Given the description of an element on the screen output the (x, y) to click on. 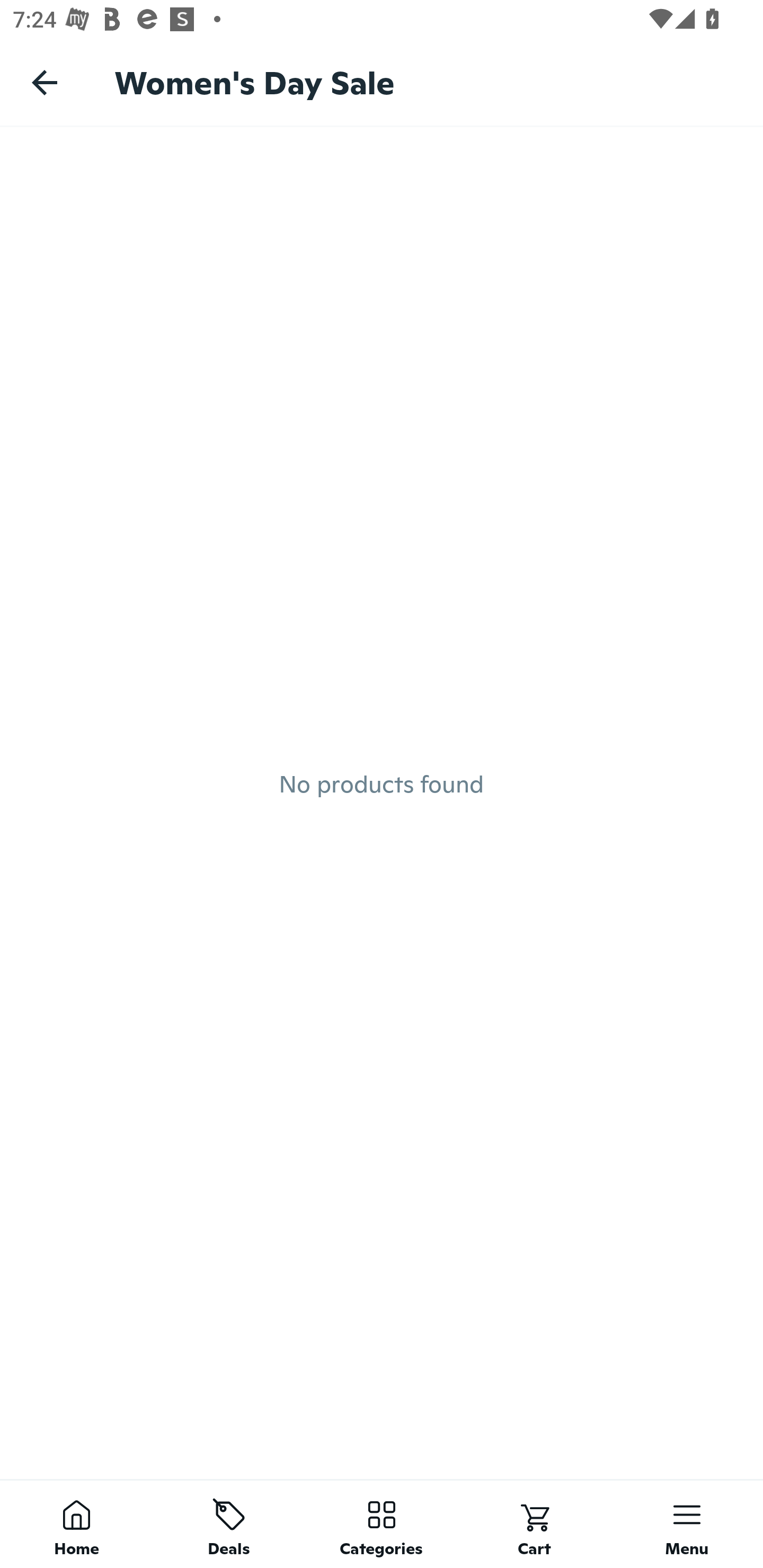
Navigate up (44, 82)
Home (76, 1523)
Deals (228, 1523)
Categories (381, 1523)
Cart (533, 1523)
Menu (686, 1523)
